Given the description of an element on the screen output the (x, y) to click on. 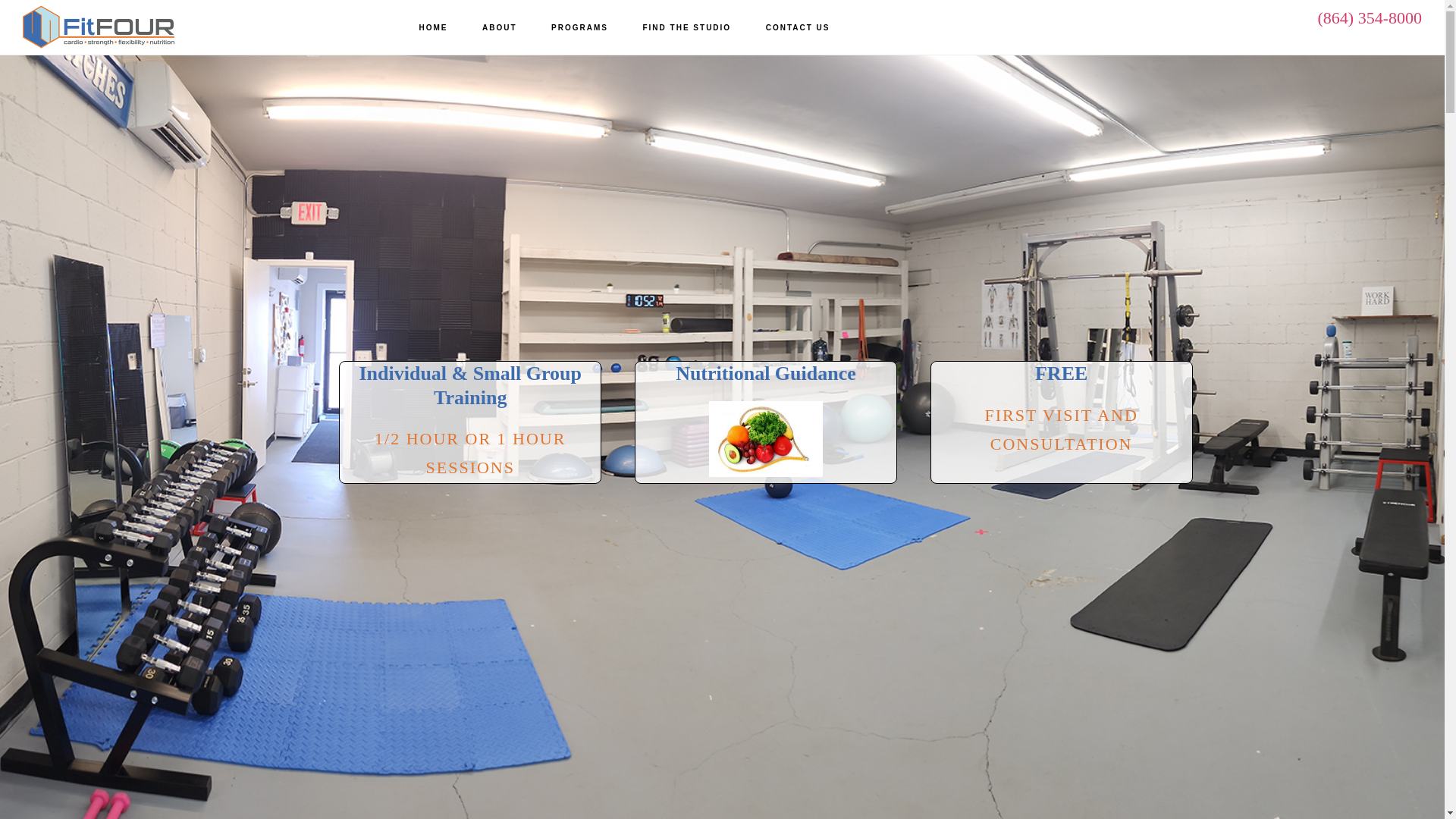
PROGRAMS (579, 27)
FIND THE STUDIO (686, 27)
ABOUT (499, 27)
HOME (433, 27)
CONTACT US (798, 27)
FIT FOUR TRAINING GREER, GREENVILLE SC (98, 26)
